Given the description of an element on the screen output the (x, y) to click on. 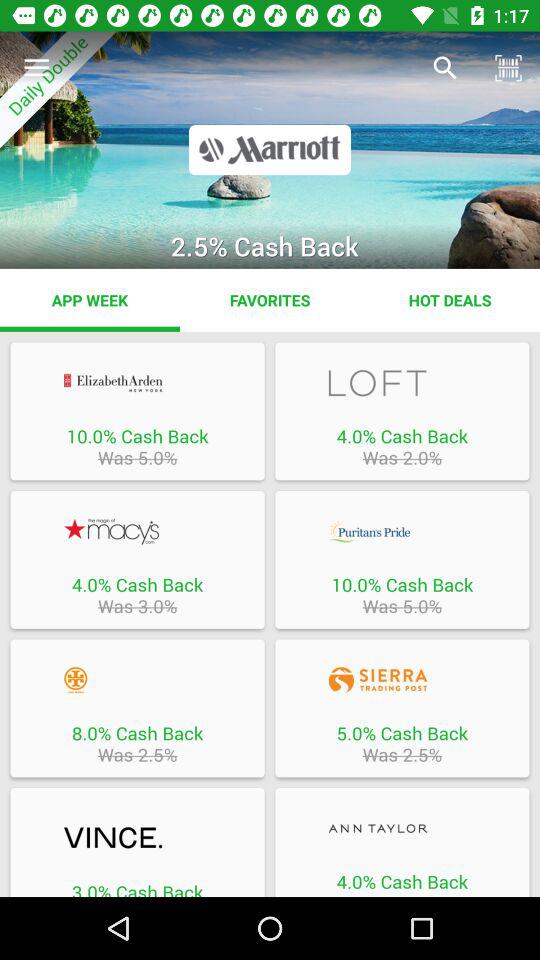
choose this website (402, 531)
